Given the description of an element on the screen output the (x, y) to click on. 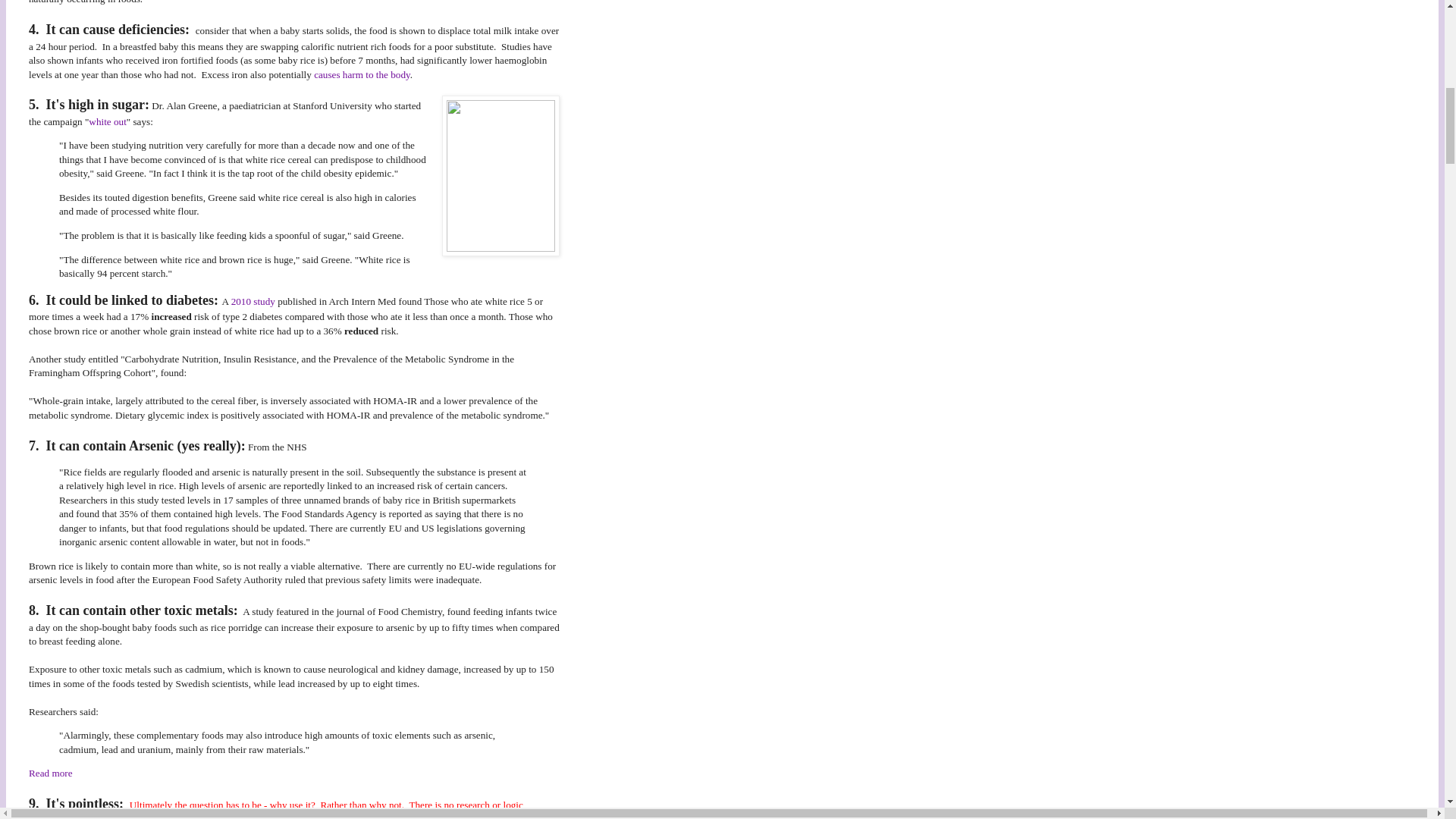
2010 study (253, 301)
white out (106, 121)
causes harm to the body (362, 74)
Read more  (52, 772)
